Given the description of an element on the screen output the (x, y) to click on. 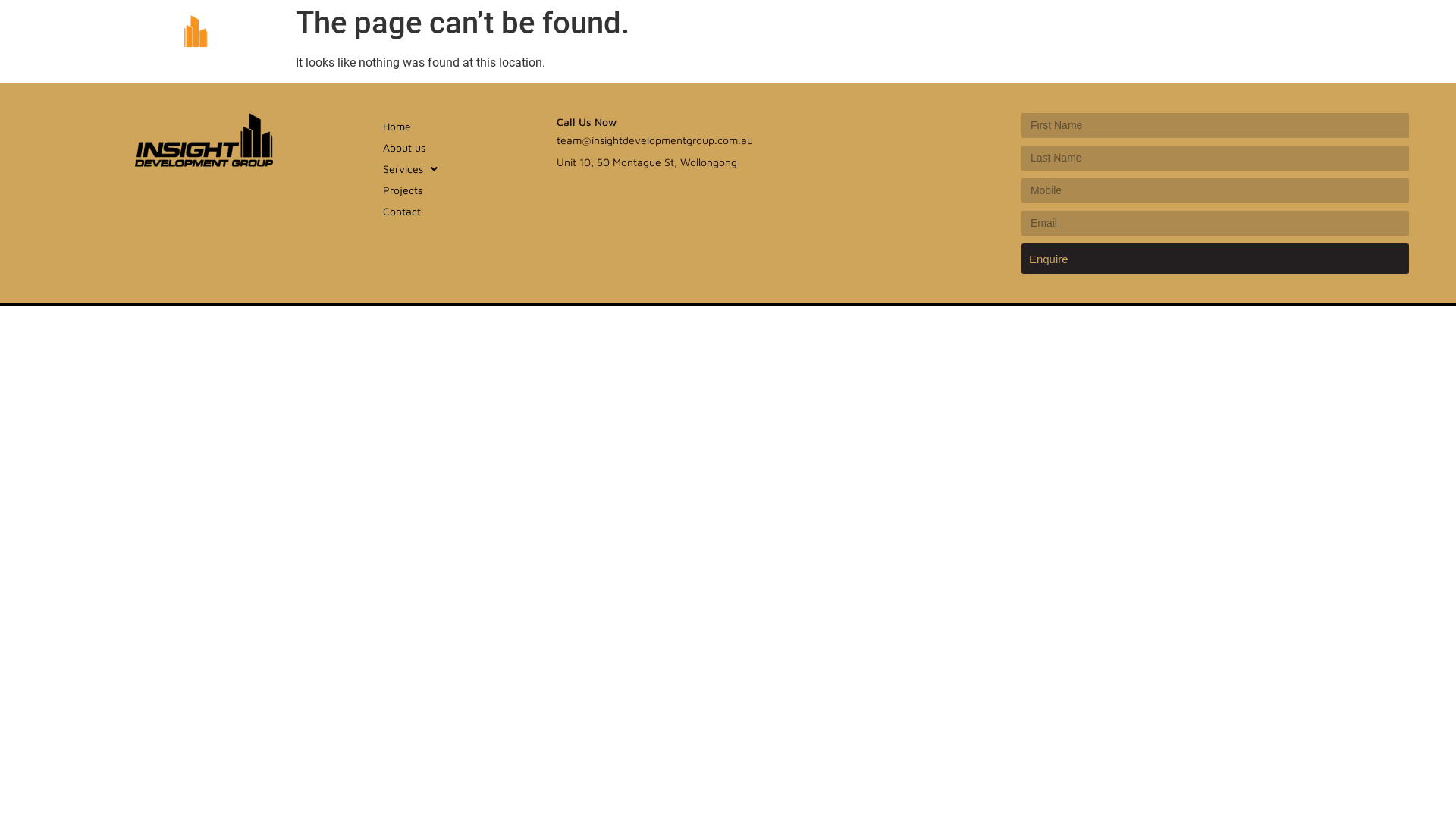
Contact Element type: text (1180, 33)
team@insightdevelopmentgroup.com.au Element type: text (654, 139)
Services Element type: text (1016, 33)
Call Us Now Element type: text (586, 121)
About us Element type: text (926, 33)
Enquire Element type: text (1214, 258)
Home Element type: text (853, 33)
Projects Element type: text (460, 189)
Services Element type: text (460, 168)
Contact Element type: text (460, 211)
Home Element type: text (460, 126)
About us Element type: text (460, 147)
Projects Element type: text (1103, 33)
